Given the description of an element on the screen output the (x, y) to click on. 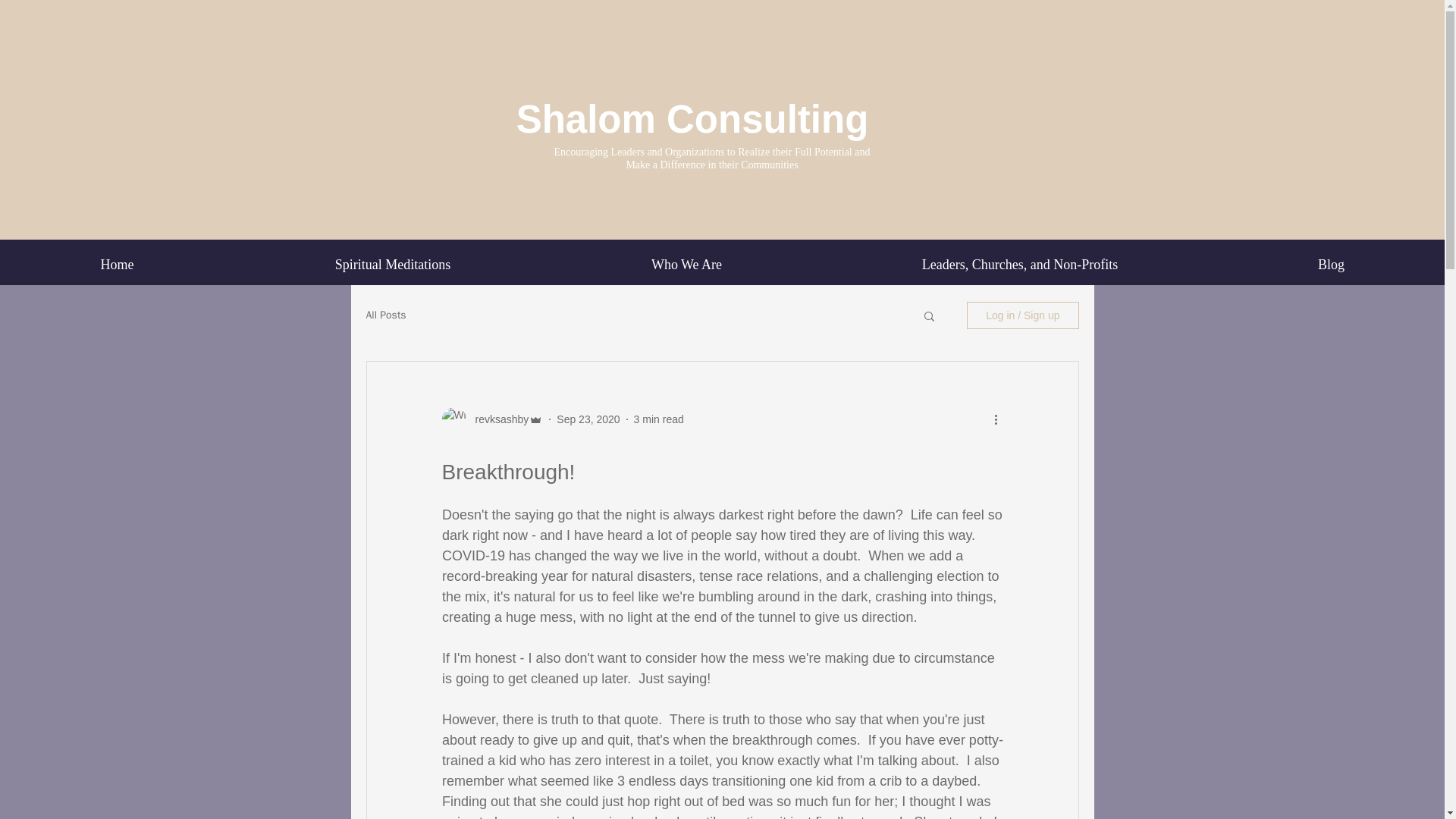
All Posts (385, 315)
Who We Are (686, 264)
Leaders, Churches, and Non-Profits (1019, 264)
Spiritual Meditations (392, 264)
Sep 23, 2020 (588, 418)
Shalom Consulting (692, 118)
revksashby (496, 418)
Home (117, 264)
3 min read (658, 418)
